Given the description of an element on the screen output the (x, y) to click on. 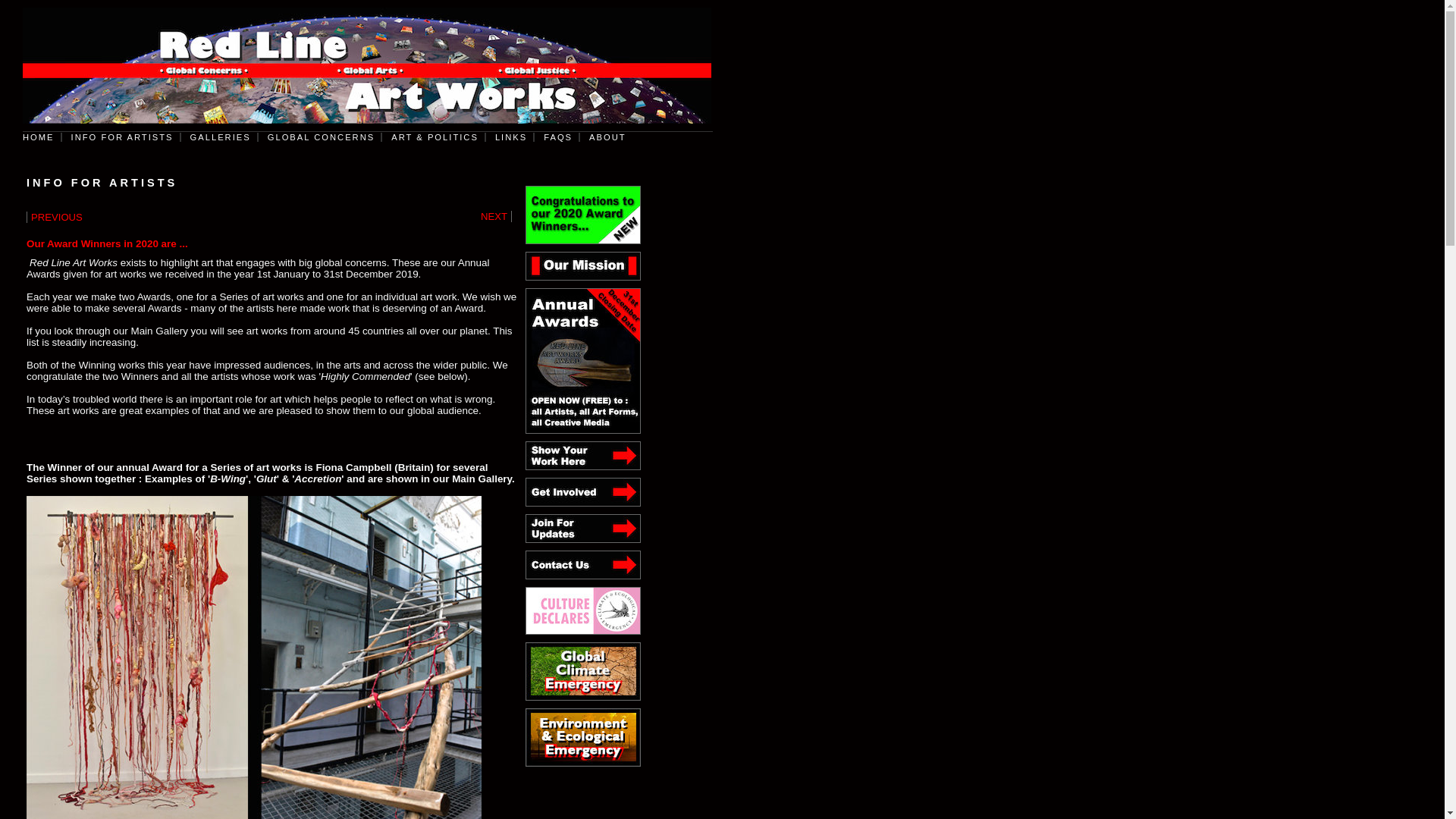
GALLERIES (218, 136)
PREVIOUS (54, 216)
ABOUT (604, 136)
INFO FOR ARTISTS (120, 136)
GLOBAL CONCERNS (319, 136)
Red Line Art Works (367, 65)
HOME (42, 136)
LINKS (508, 136)
NEXT (496, 215)
FAQS (555, 136)
